Given the description of an element on the screen output the (x, y) to click on. 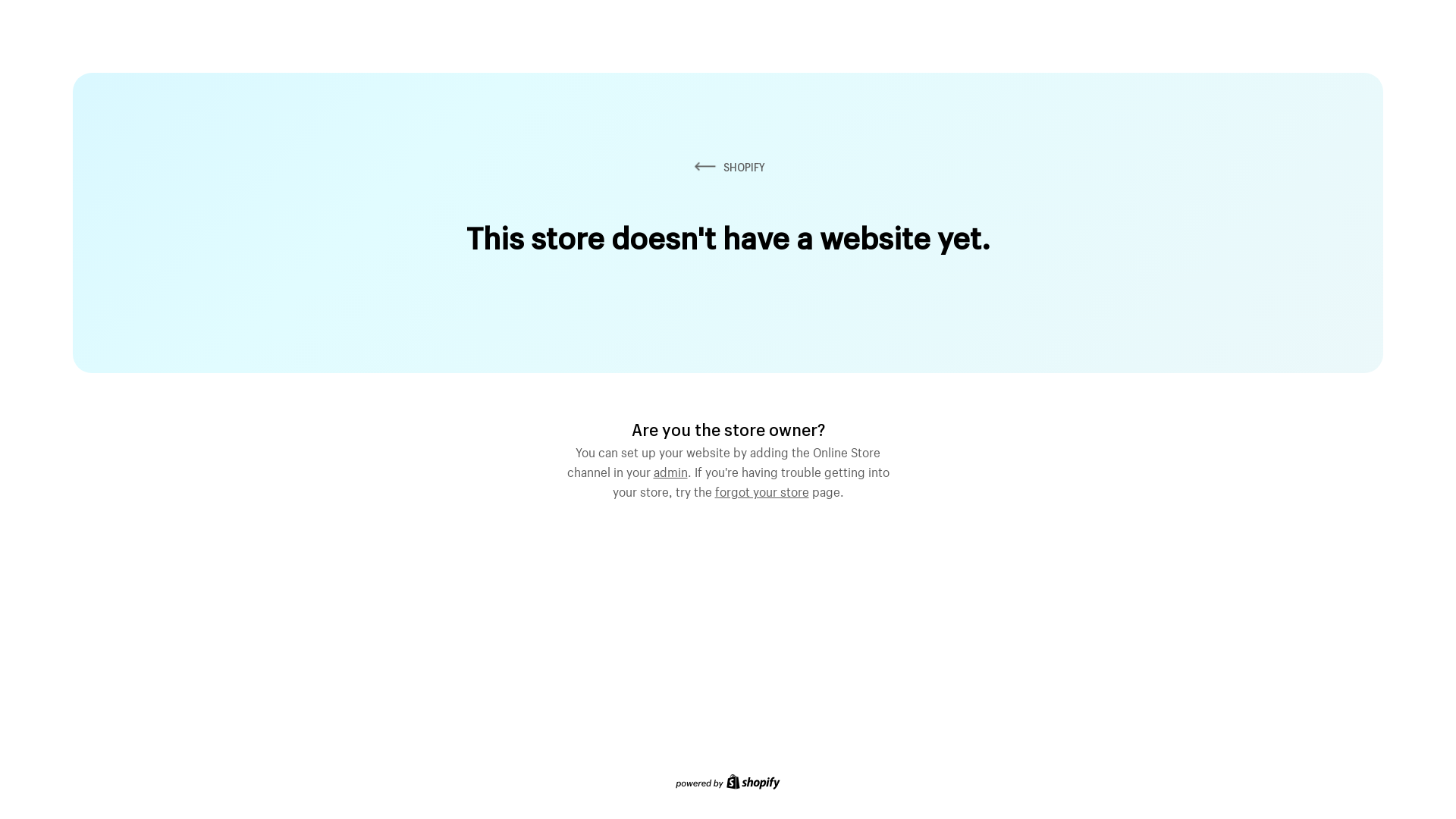
forgot your store Element type: text (761, 489)
admin Element type: text (670, 470)
SHOPIFY Element type: text (727, 167)
